Given the description of an element on the screen output the (x, y) to click on. 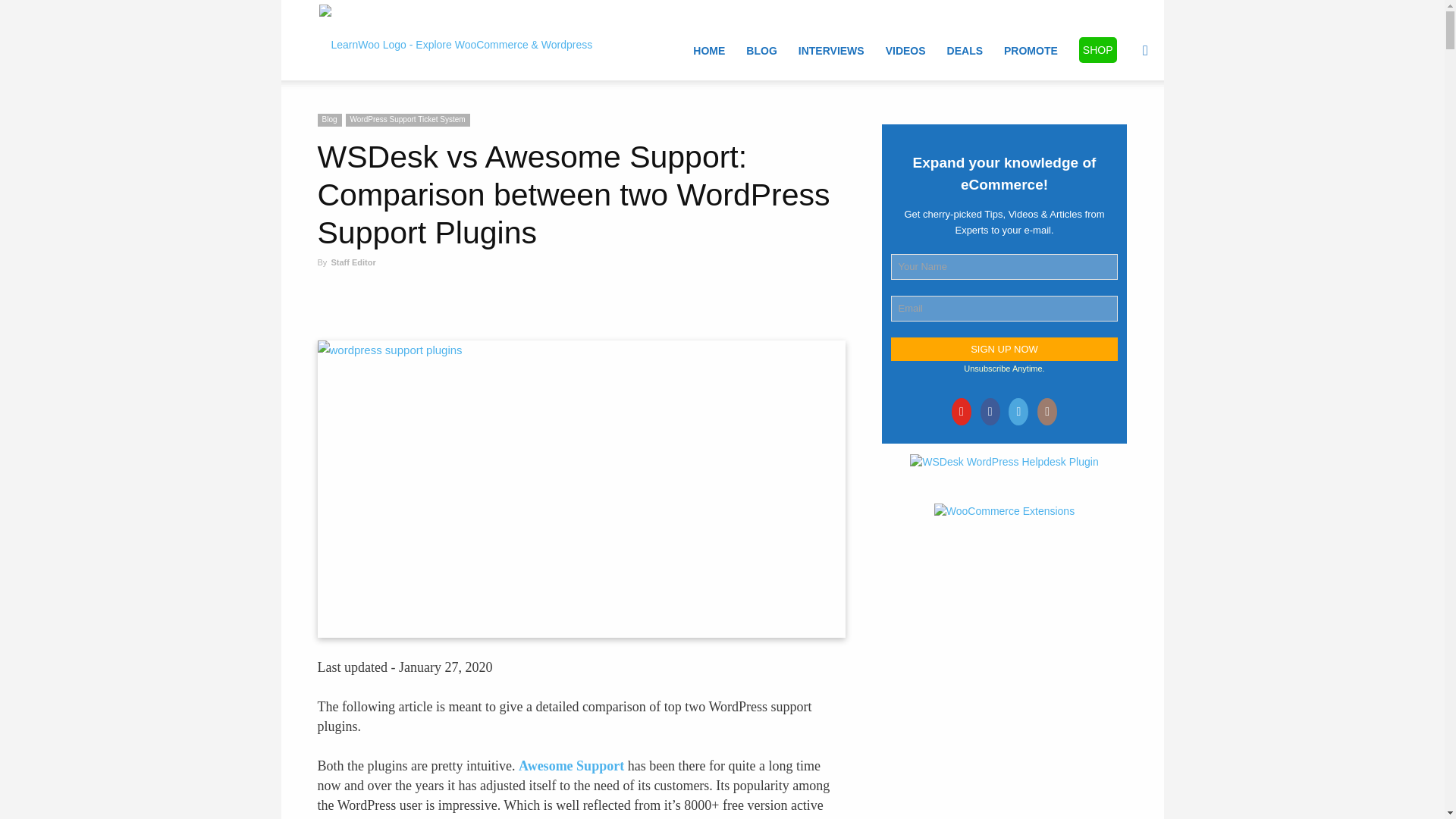
LearnWoo (455, 39)
SIGN UP NOW (1003, 349)
Search (1121, 122)
HOME (708, 50)
